Given the description of an element on the screen output the (x, y) to click on. 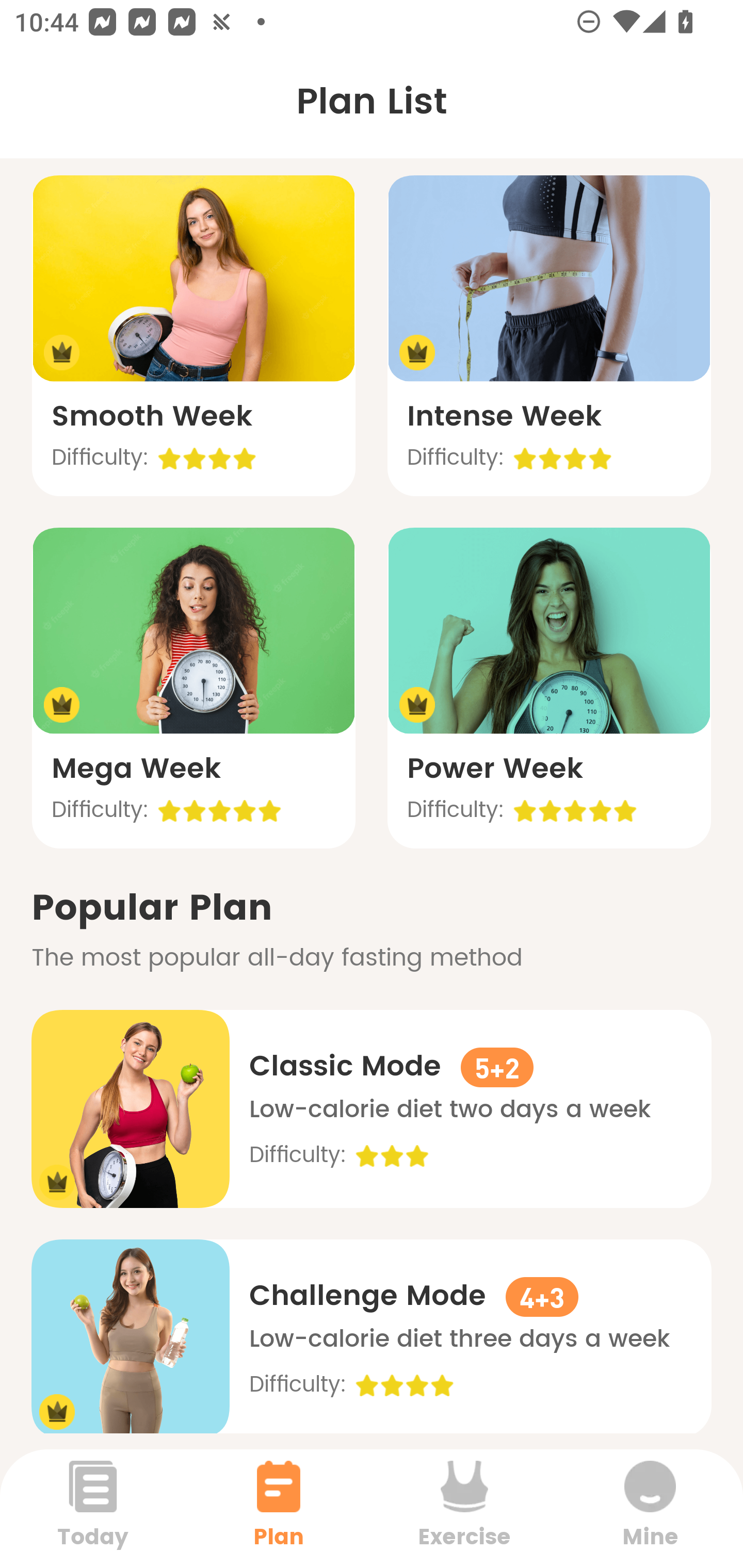
Smooth Week Difficulty: 4.0 (193, 335)
Intense Week Difficulty: 4.0 (549, 335)
Mega Week Difficulty: 5.0 (193, 688)
Power Week Difficulty: 5.0 (549, 688)
Today (92, 1508)
Exercise (464, 1508)
Mine (650, 1508)
